Given the description of an element on the screen output the (x, y) to click on. 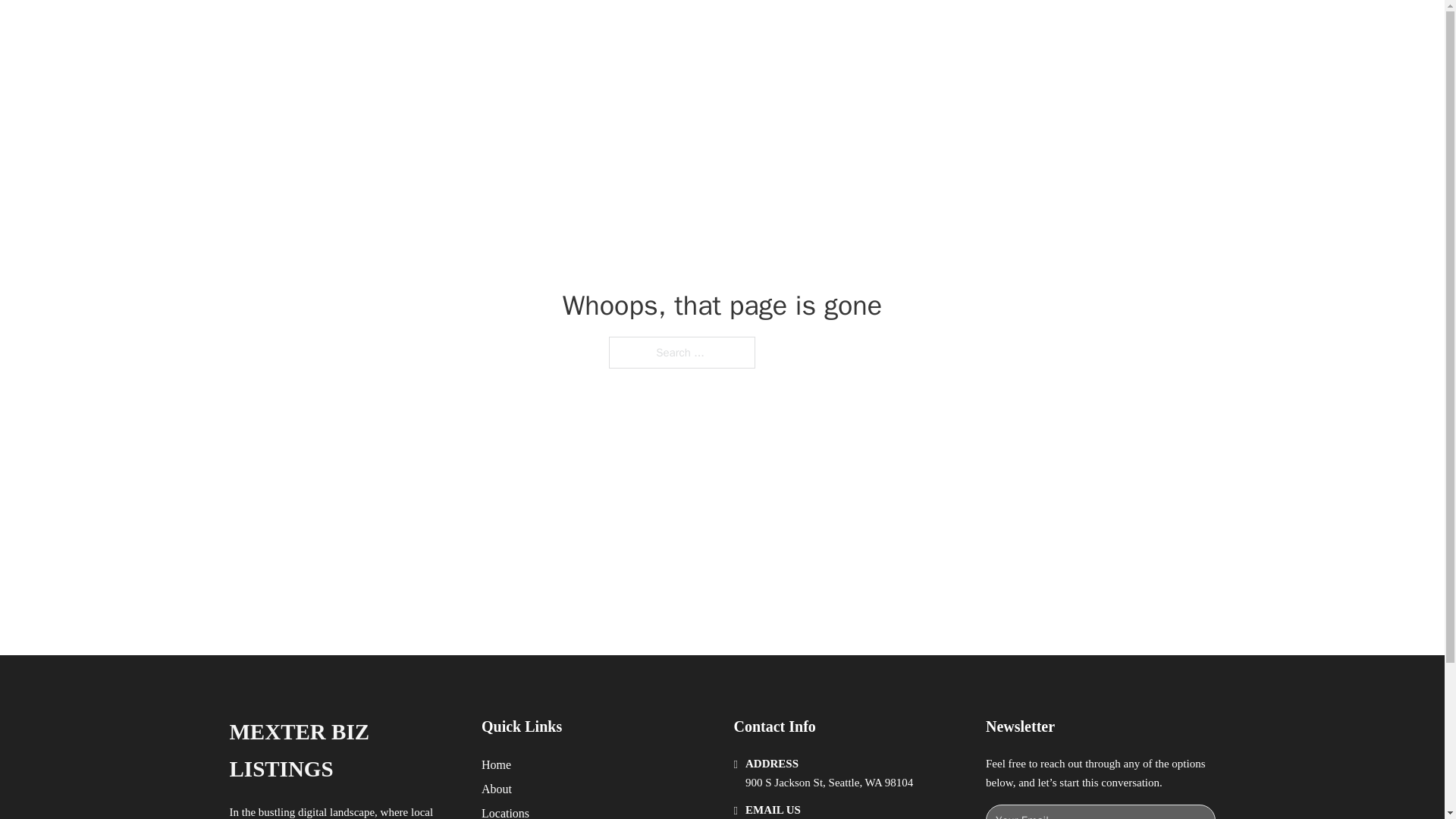
Home (496, 764)
About (496, 788)
MEXTER BIZ LISTINGS (343, 750)
LOCATIONS (990, 29)
MEXTER BIZ LISTINGS (419, 28)
Locations (505, 811)
HOME (919, 29)
